Given the description of an element on the screen output the (x, y) to click on. 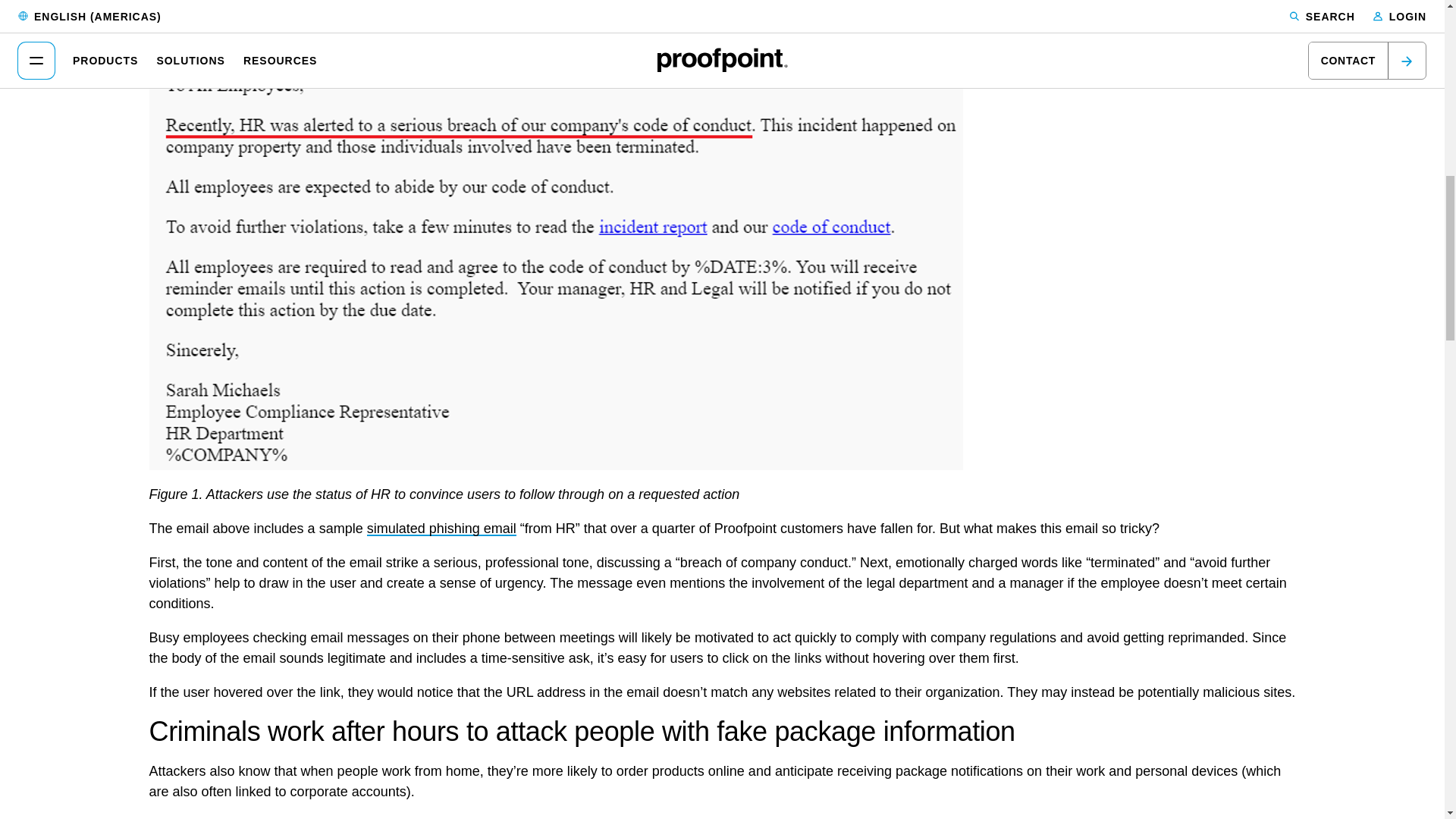
Assess (441, 528)
